Given the description of an element on the screen output the (x, y) to click on. 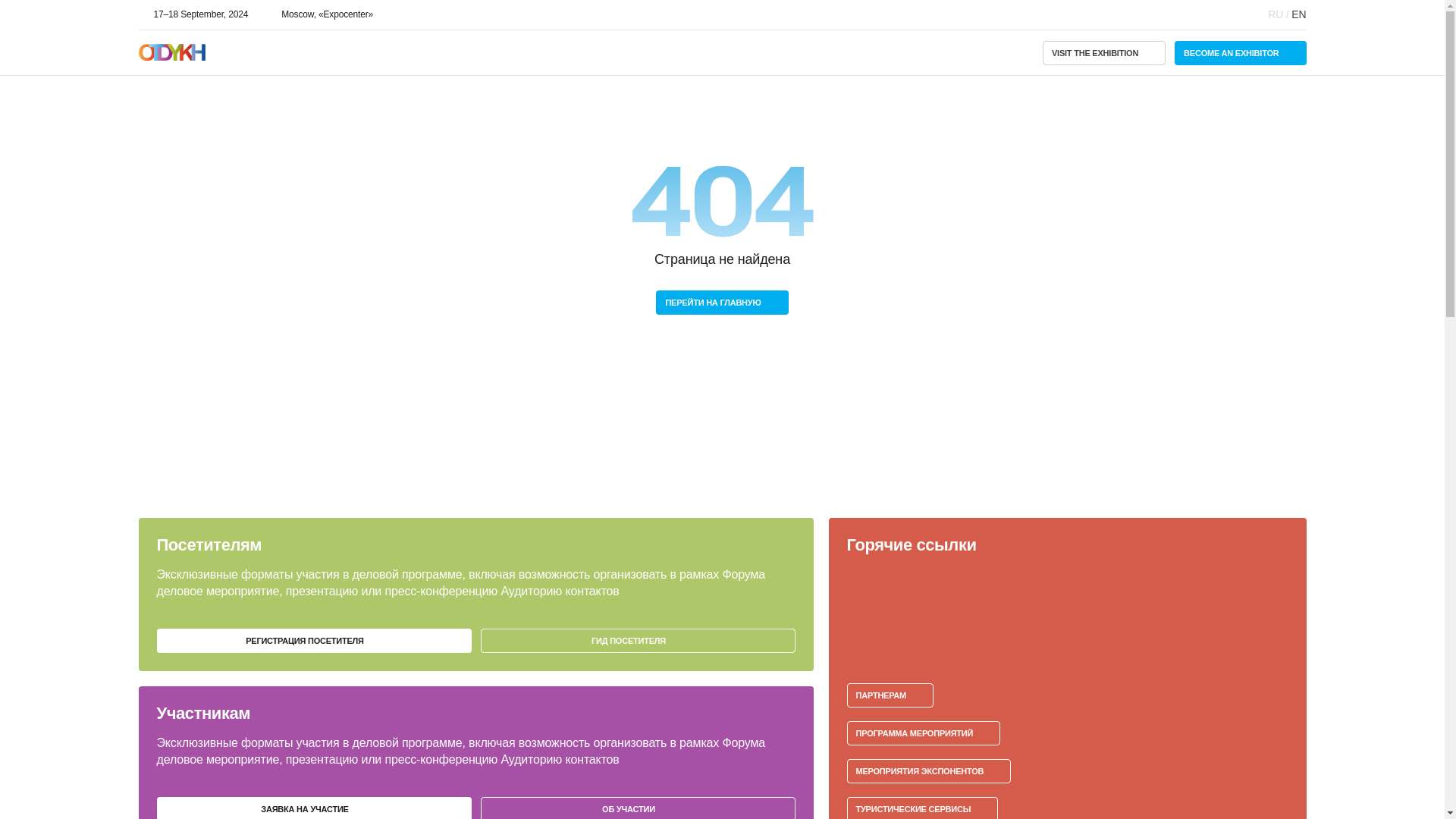
VISIT THE EXHIBITION (1104, 52)
EN (1298, 14)
BECOME AN EXHIBITOR (1240, 52)
